Given the description of an element on the screen output the (x, y) to click on. 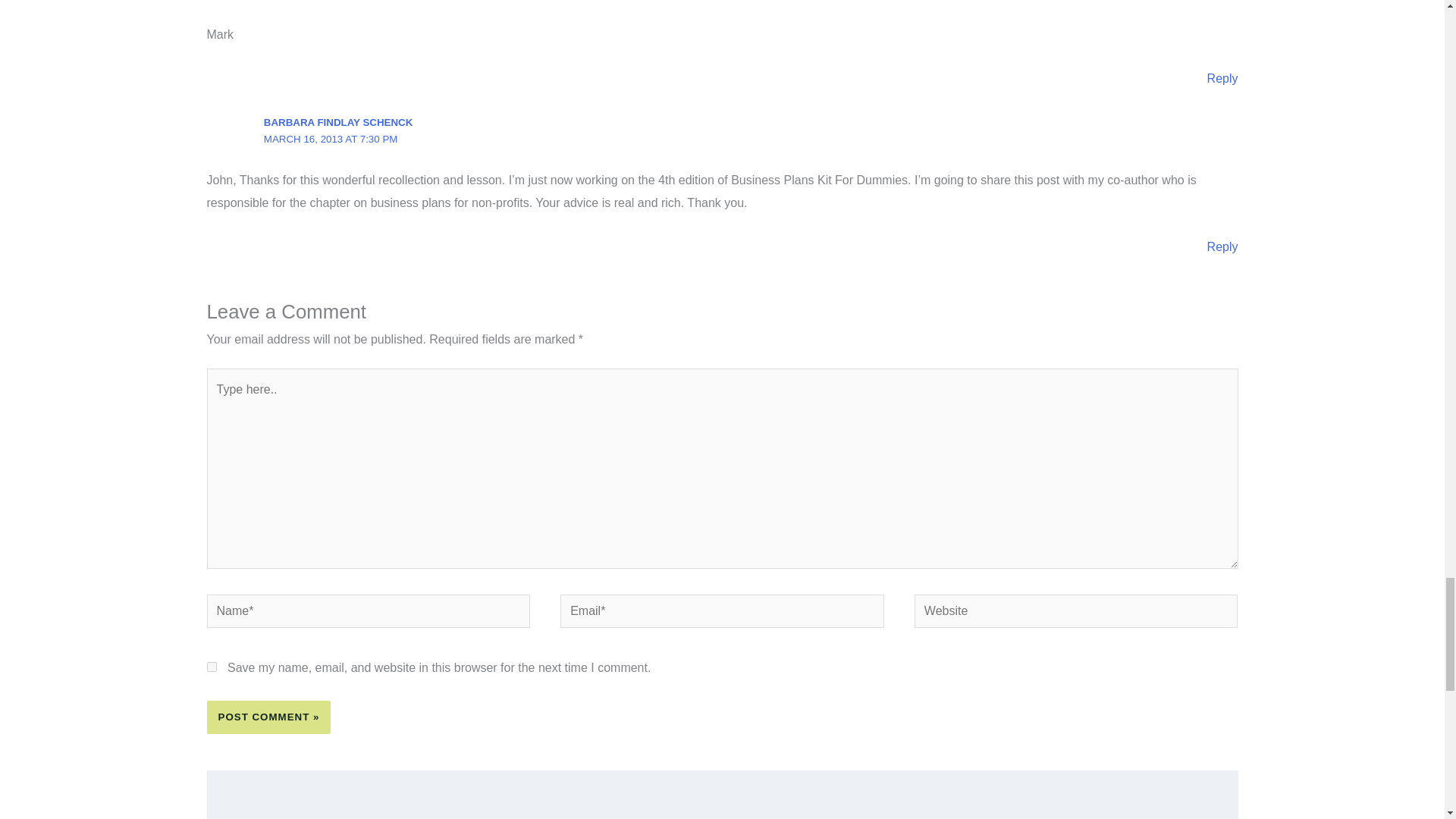
Reply (1223, 246)
MARCH 16, 2013 AT 7:30 PM (330, 138)
Reply (1223, 78)
BARBARA FINDLAY SCHENCK (337, 122)
yes (210, 666)
